Given the description of an element on the screen output the (x, y) to click on. 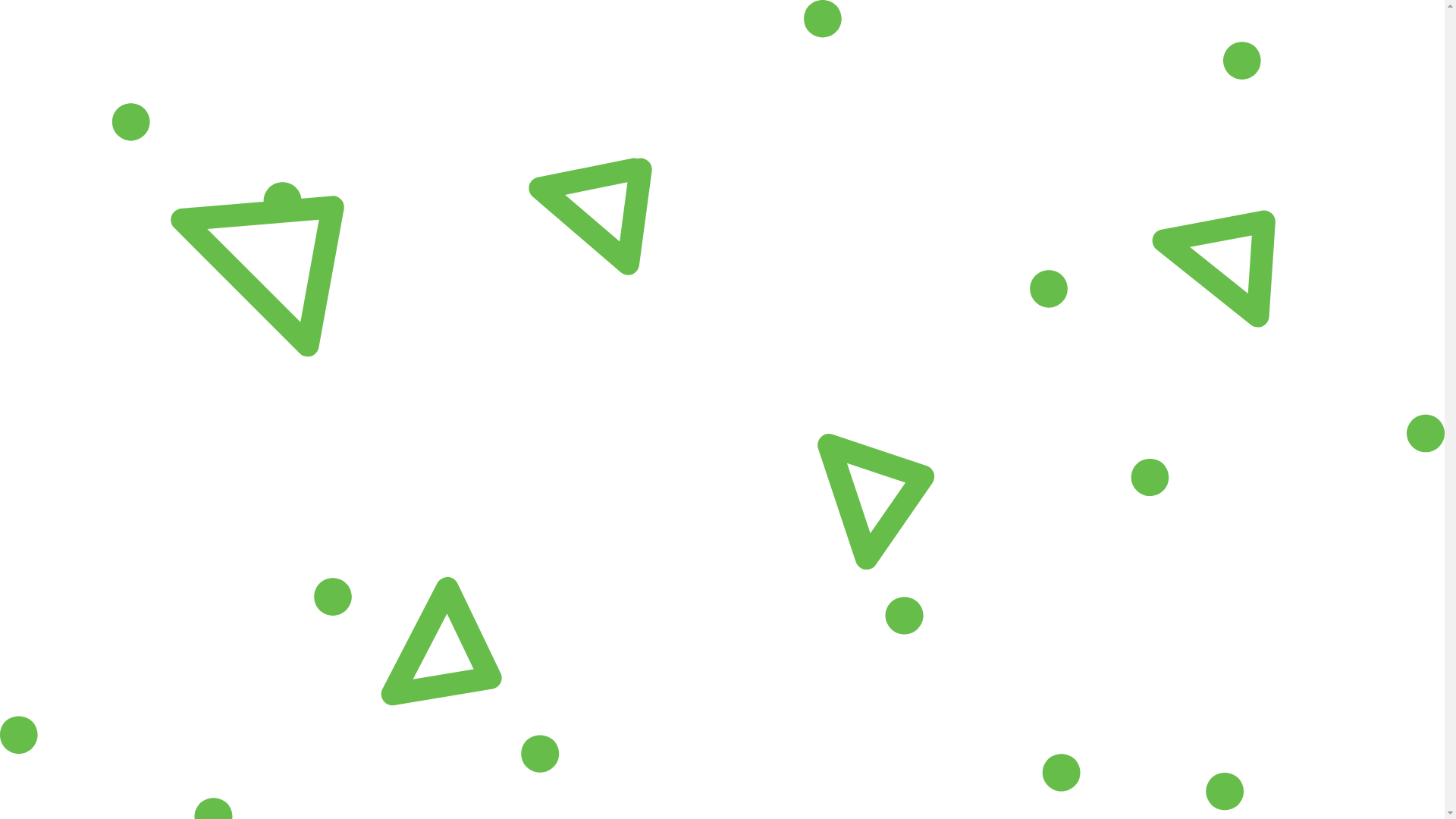
Copyright 2023 Element type: text (1240, 790)
Facebook Element type: text (44, 789)
Instagram Element type: text (96, 789)
Privacy Policy Element type: text (1383, 790)
SKIP TO CONTENT Element type: text (11, 37)
5174 2829 Element type: text (812, 772)
admin@langden.com.au Element type: text (813, 785)
Disclaimer Element type: text (1312, 790)
